Given the description of an element on the screen output the (x, y) to click on. 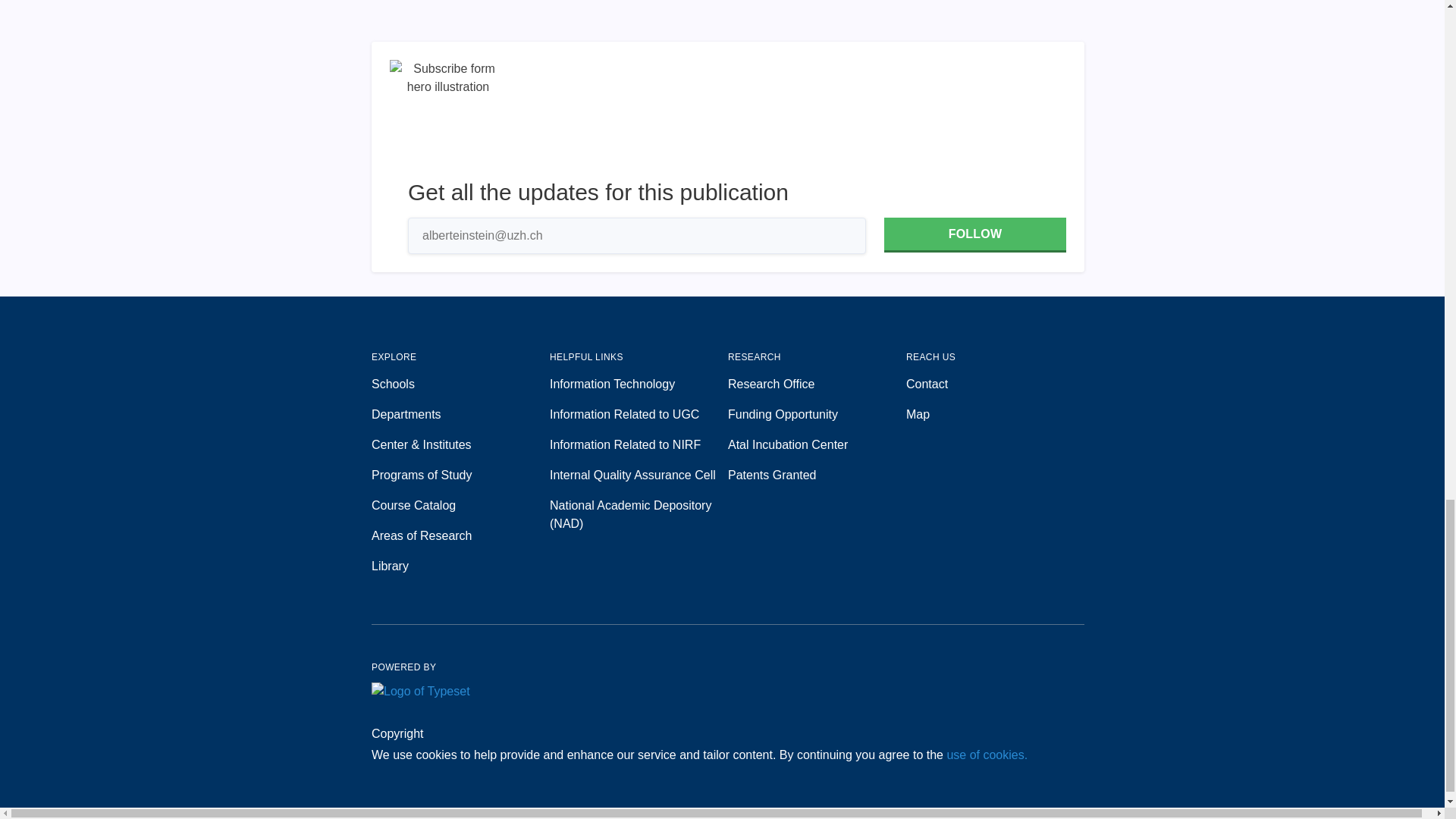
Library (460, 566)
Information Related to NIRF (639, 444)
Course Catalog (460, 505)
Areas of Research (460, 536)
Subscribe form hero illustration (448, 117)
Schools (460, 384)
Departments (460, 414)
Logo of Typeset (420, 691)
Internal Quality Assurance Cell (639, 475)
Information Technology (639, 384)
